Given the description of an element on the screen output the (x, y) to click on. 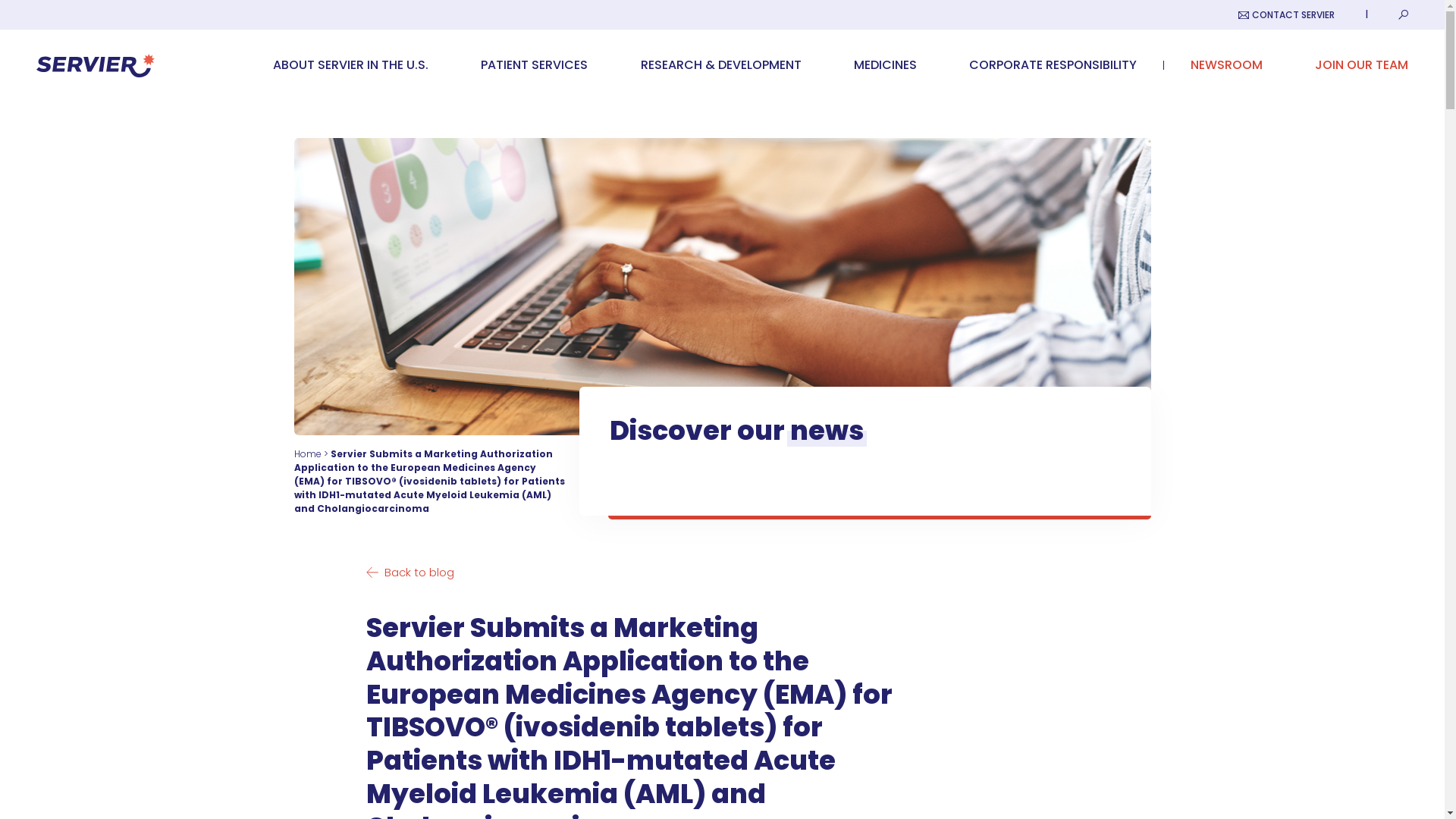
CORPORATE RESPONSIBILITY (1053, 64)
PATIENT SERVICES (534, 64)
ABOUT SERVIER IN THE U.S. (350, 64)
MEDICINES (885, 64)
CONTACT SERVIER (1287, 13)
Submit Search (1402, 14)
Submit Search (1402, 14)
Contact Servier US (1287, 13)
